Given the description of an element on the screen output the (x, y) to click on. 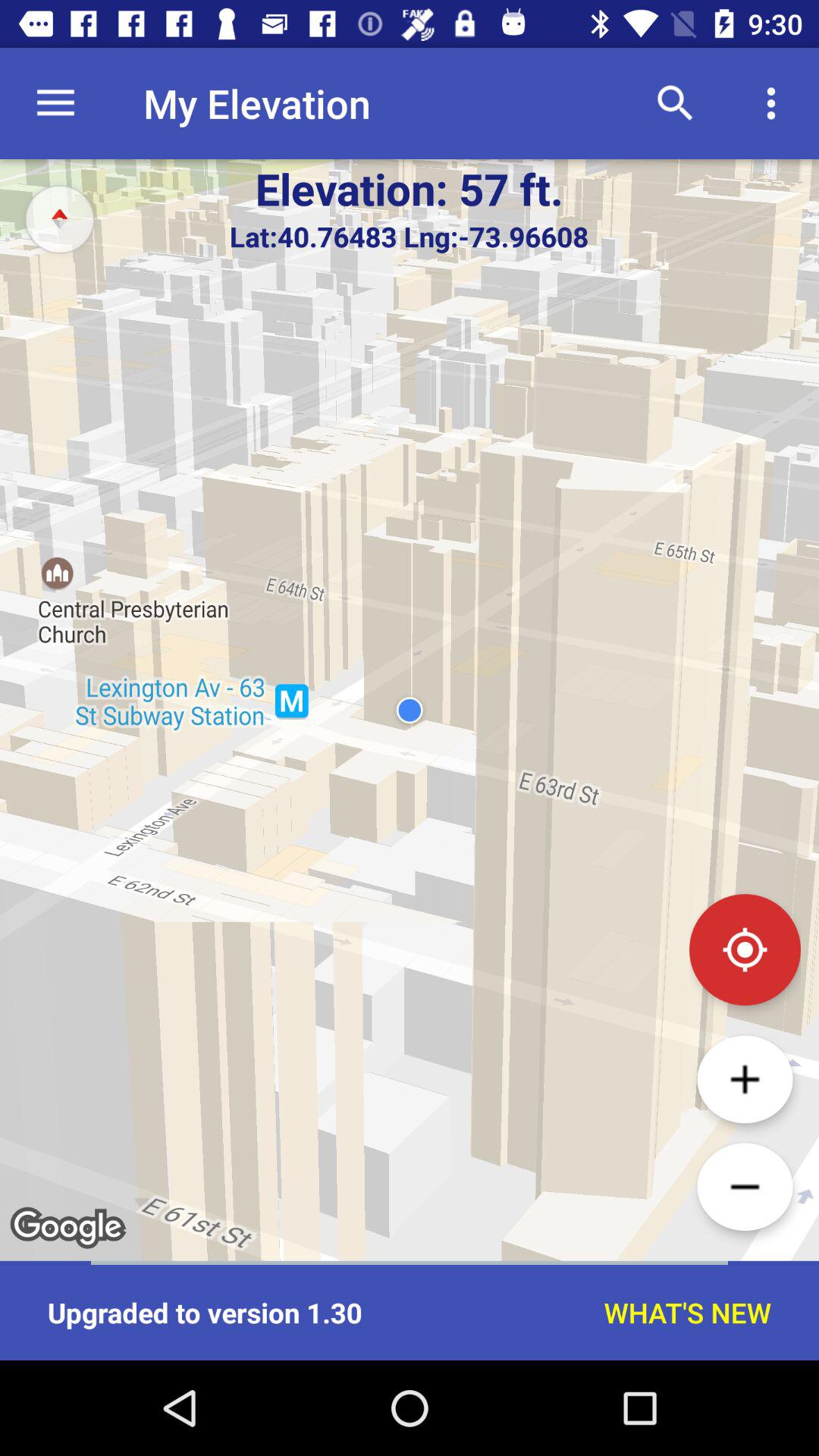
zoon out (744, 1186)
